Given the description of an element on the screen output the (x, y) to click on. 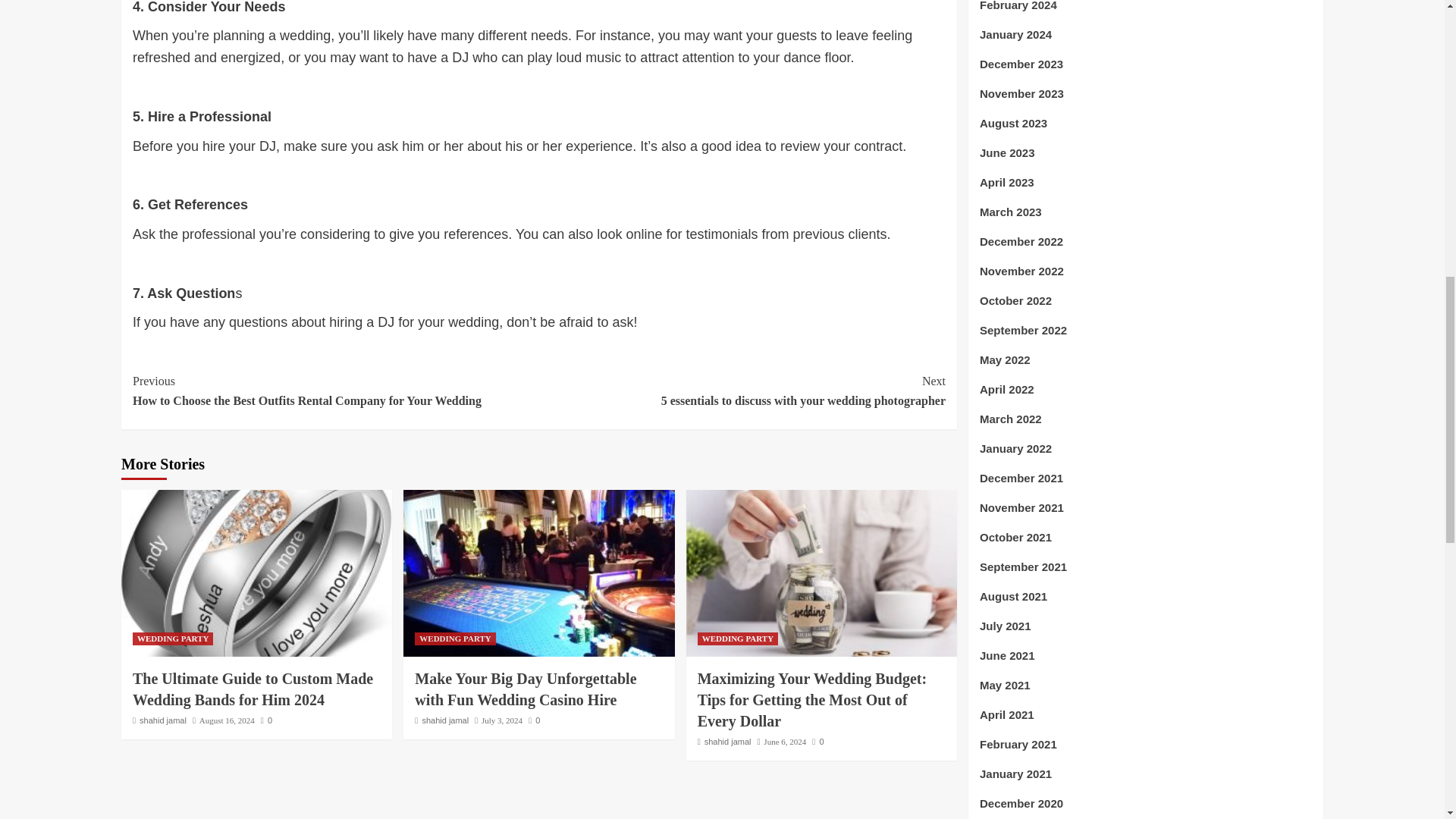
August 16, 2024 (226, 719)
0 (818, 741)
0 (534, 719)
0 (266, 719)
July 3, 2024 (501, 719)
The Ultimate Guide to Custom Made Wedding Bands for Him 2024 (252, 689)
Make Your Big Day Unforgettable with Fun Wedding Casino Hire (525, 689)
WEDDING PARTY (454, 638)
